Given the description of an element on the screen output the (x, y) to click on. 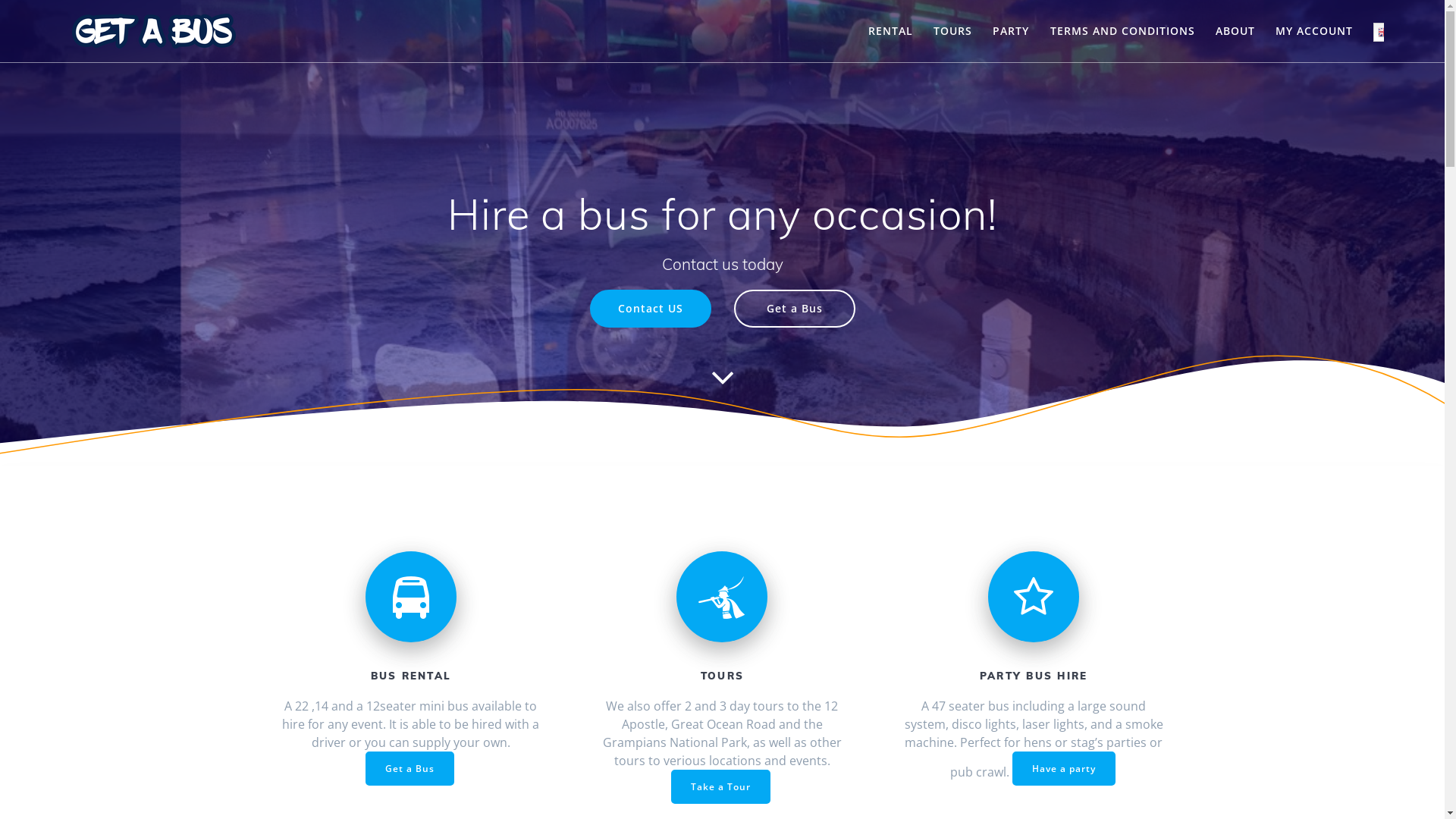
TERMS AND CONDITIONS Element type: text (1122, 30)
MY ACCOUNT Element type: text (1313, 30)
Contact US Element type: text (650, 308)
Get a Bus Element type: text (409, 768)
PARTY Element type: text (1010, 30)
TOURS Element type: text (952, 30)
RENTAL Element type: text (890, 30)
ABOUT Element type: text (1235, 30)
Have a party Element type: text (1063, 768)
Take a Tour Element type: text (720, 786)
Get a Bus Element type: text (794, 308)
